Given the description of an element on the screen output the (x, y) to click on. 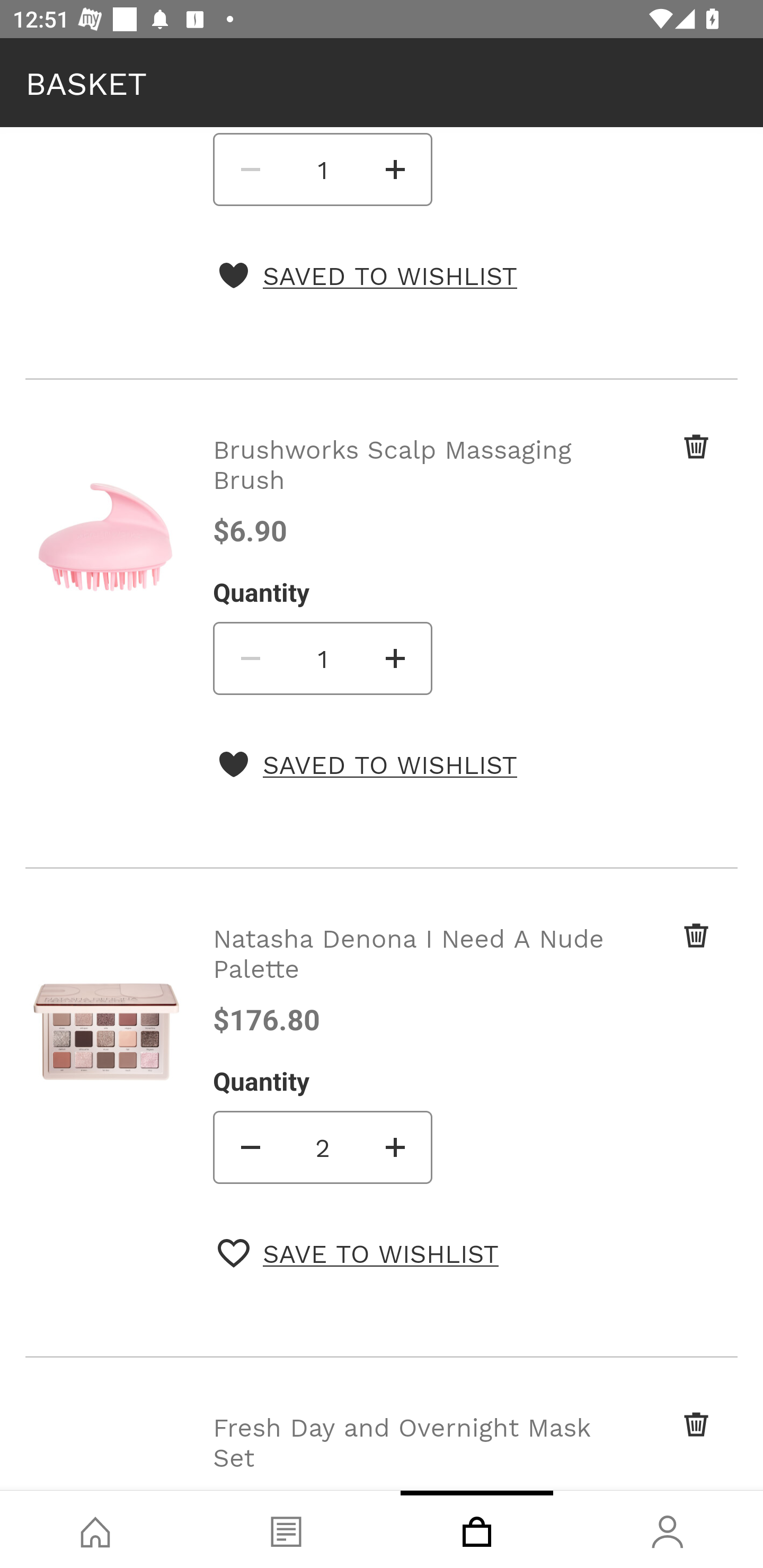
Decrease quantity (249, 169)
Increase quantity (395, 169)
Saved to Wishlist SAVED TO WISHLIST (366, 275)
Brushworks Scalp Massaging Brush $6.90 (412, 489)
Remove this item (661, 464)
Decrease quantity (249, 658)
Increase quantity (395, 658)
Saved to Wishlist SAVED TO WISHLIST (366, 764)
Natasha Denona I Need A Nude Palette $176.80 (412, 978)
Remove this item (661, 952)
Decrease quantity (249, 1146)
Increase quantity (395, 1146)
Save to Wishlist SAVE TO WISHLIST (357, 1252)
Fresh Day and Overnight Mask Set $116.80 (412, 1448)
Remove this item (661, 1441)
Shop, tab, 1 of 4 (95, 1529)
Blog, tab, 2 of 4 (285, 1529)
Basket, tab, 3 of 4 (476, 1529)
Account, tab, 4 of 4 (667, 1529)
